Given the description of an element on the screen output the (x, y) to click on. 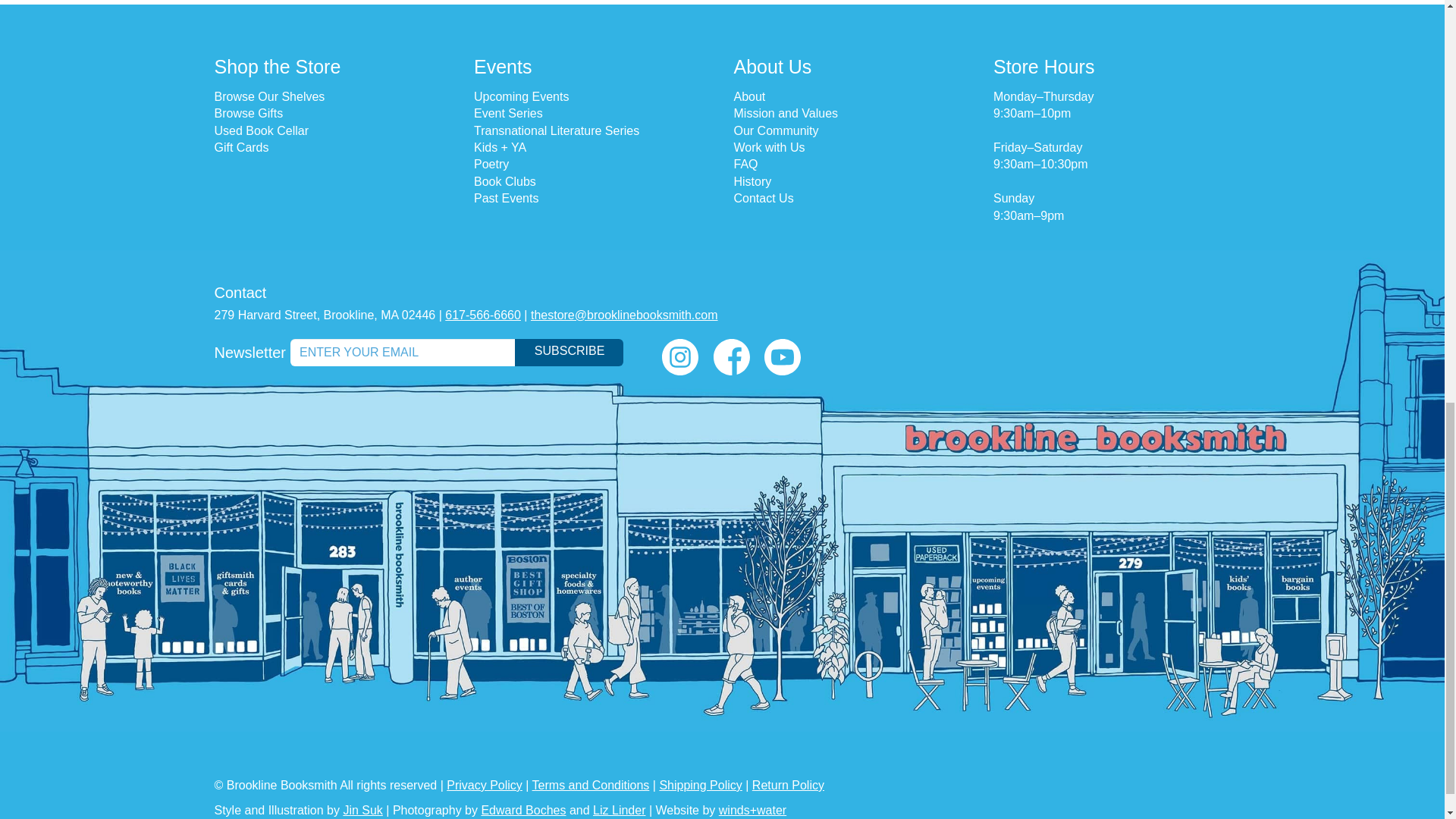
Subscribe (569, 352)
